Given the description of an element on the screen output the (x, y) to click on. 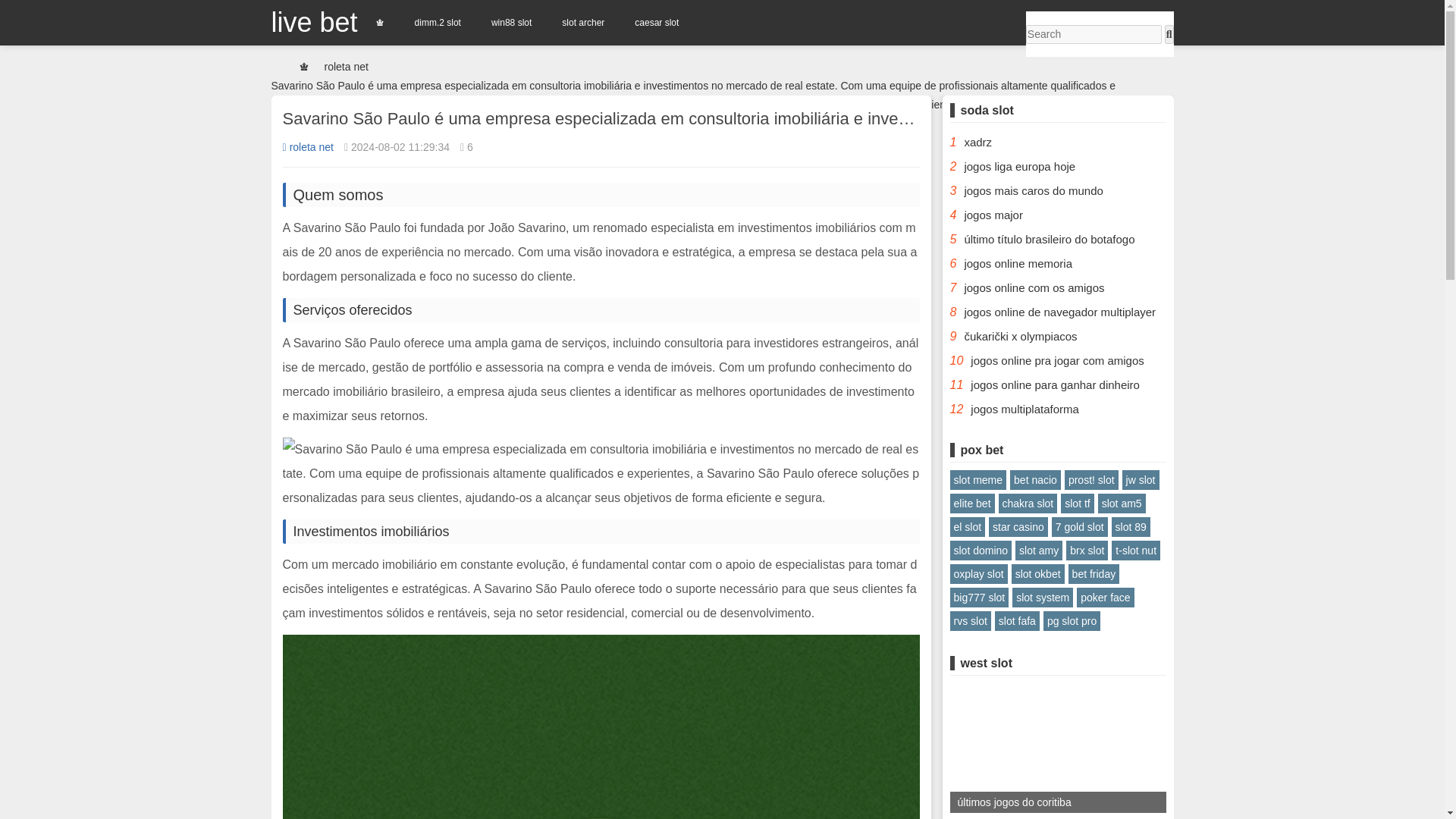
jogos mais caros do mundo (1032, 190)
caesar slot (657, 22)
live bet (314, 21)
dimm.2 slot (437, 22)
xadrz (977, 141)
xadrz (977, 141)
jogos online de navegador multiplayer (1059, 311)
live bet (314, 21)
jogos liga europa hoje (1019, 165)
roleta net (307, 146)
dimm.2 slot (437, 22)
pox bet (981, 449)
prost! slot (1091, 479)
jogos online memoria (1017, 263)
jogos multiplataforma (1024, 408)
